Given the description of an element on the screen output the (x, y) to click on. 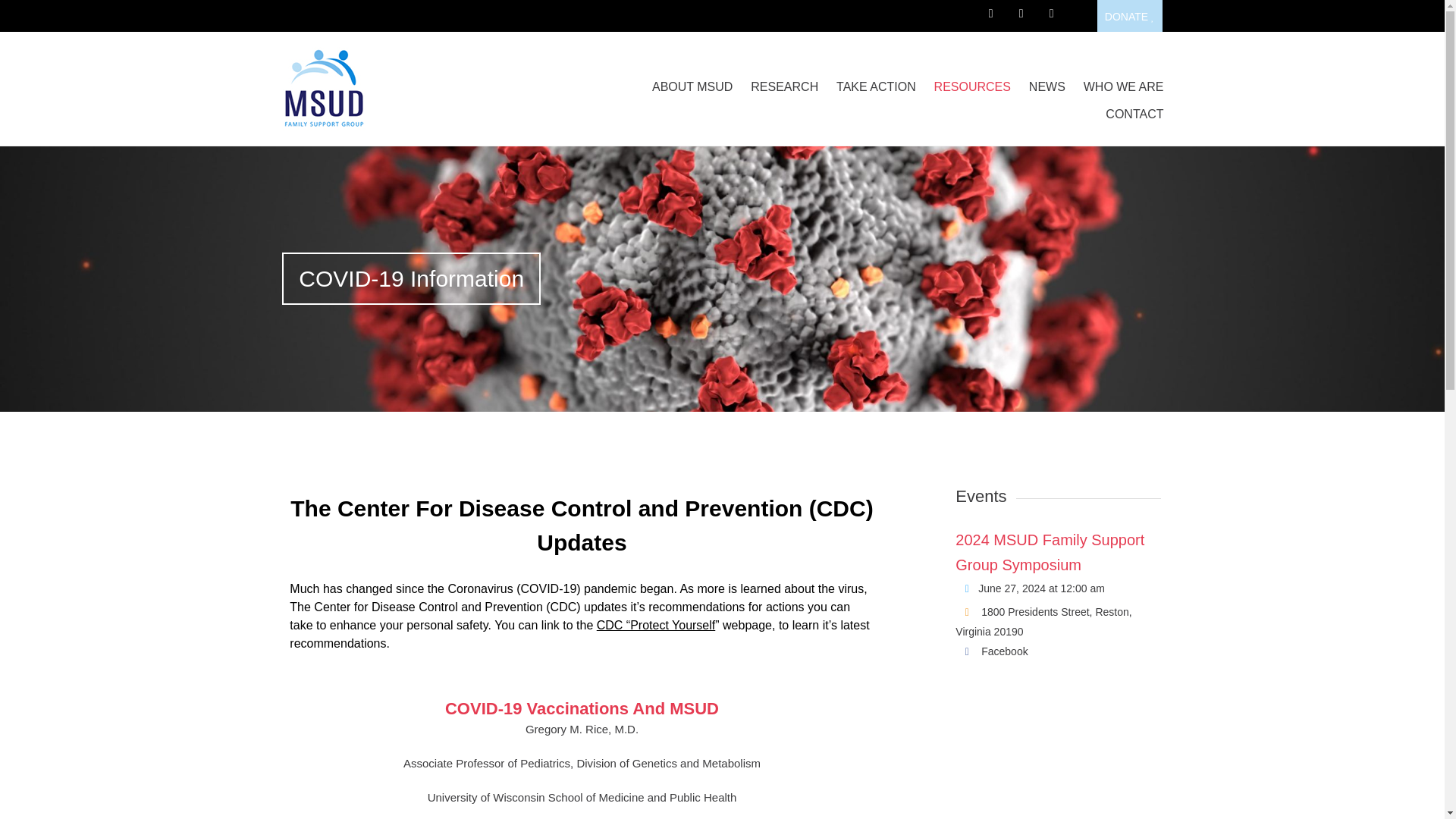
RESEARCH (783, 86)
RESOURCES (971, 86)
2024 MSUD Family Support Group Symposium (1049, 552)
MSUD Family Support Group -  (413, 88)
TAKE ACTION (875, 86)
NEWS (1047, 86)
ABOUT MSUD (692, 86)
DONATE (1129, 15)
WHO WE ARE (1123, 86)
